Given the description of an element on the screen output the (x, y) to click on. 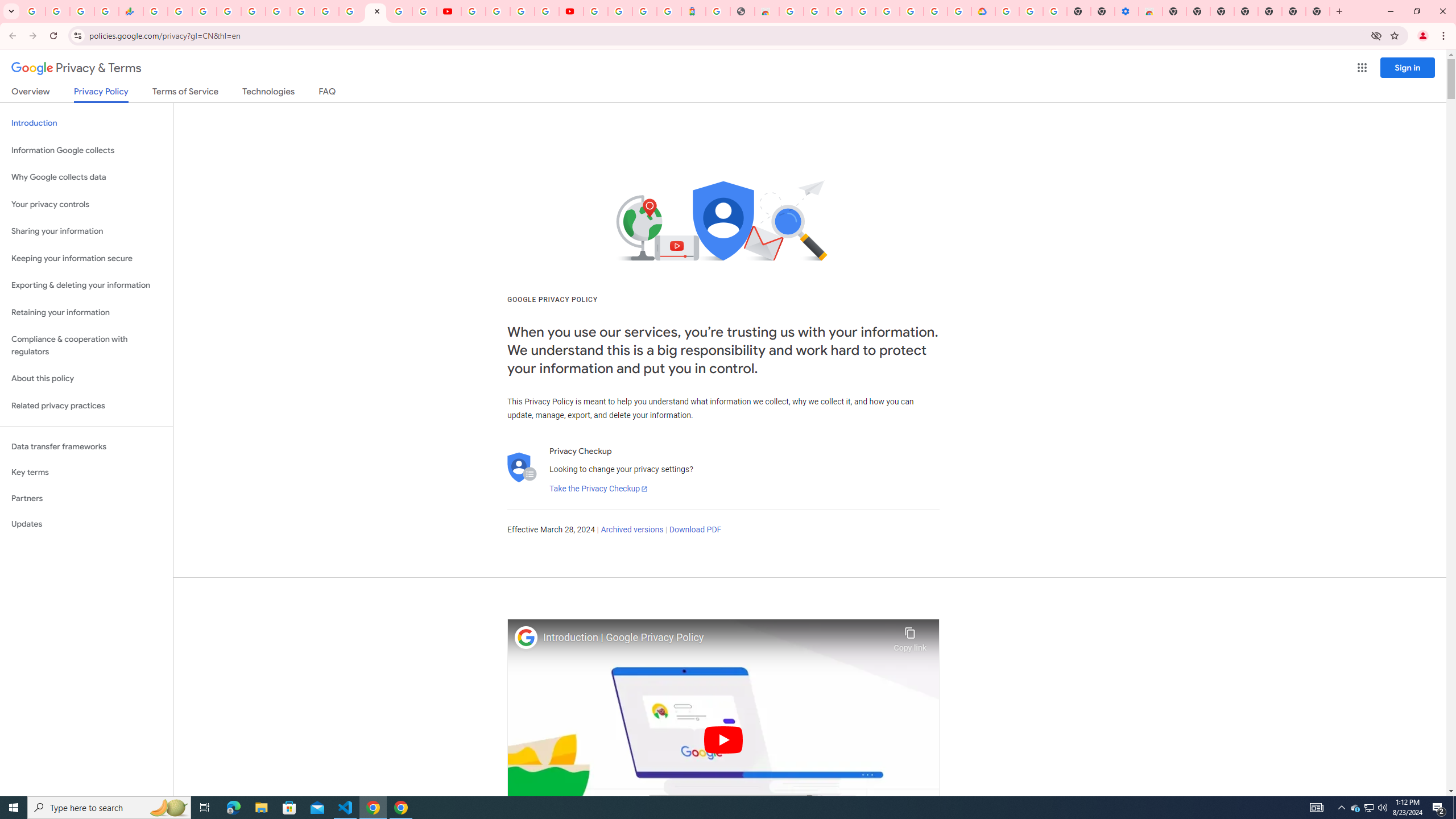
New Tab (1317, 11)
Google Account Help (497, 11)
Google Workspace Admin Community (33, 11)
Sign in - Google Accounts (935, 11)
Data transfer frameworks (86, 446)
Retaining your information (86, 312)
Partners (86, 497)
Keeping your information secure (86, 258)
Atour Hotel - Google hotels (692, 11)
Sign in - Google Accounts (228, 11)
YouTube (472, 11)
